Given the description of an element on the screen output the (x, y) to click on. 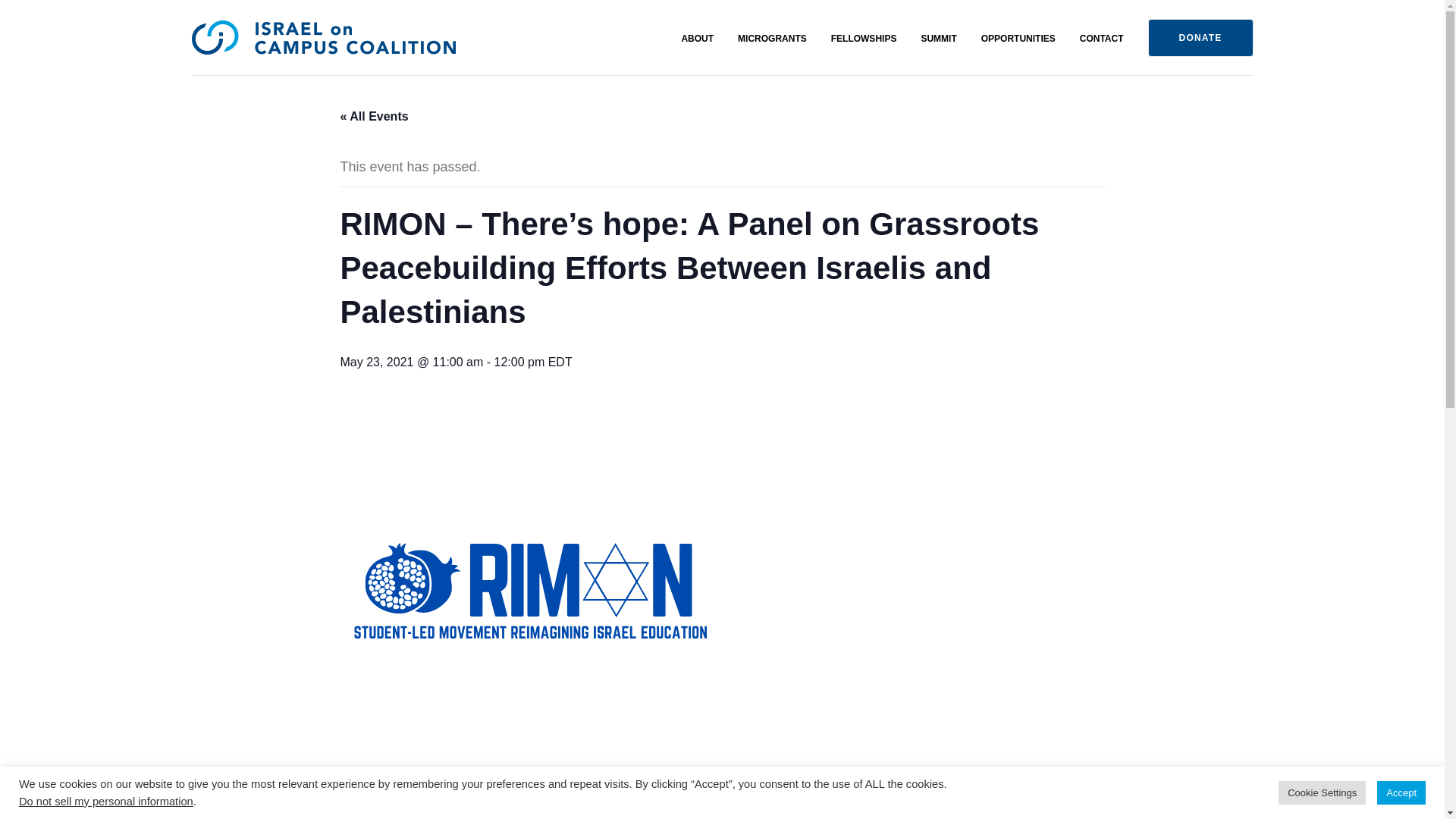
SUMMIT (938, 38)
Do not sell my personal information (105, 801)
Accept (1401, 792)
FELLOWSHIPS (863, 38)
CONTACT (1102, 38)
MICROGRANTS (772, 38)
OPPORTUNITIES (1018, 38)
ABOUT (697, 38)
DONATE (1201, 36)
Cookie Settings (1321, 792)
